Given the description of an element on the screen output the (x, y) to click on. 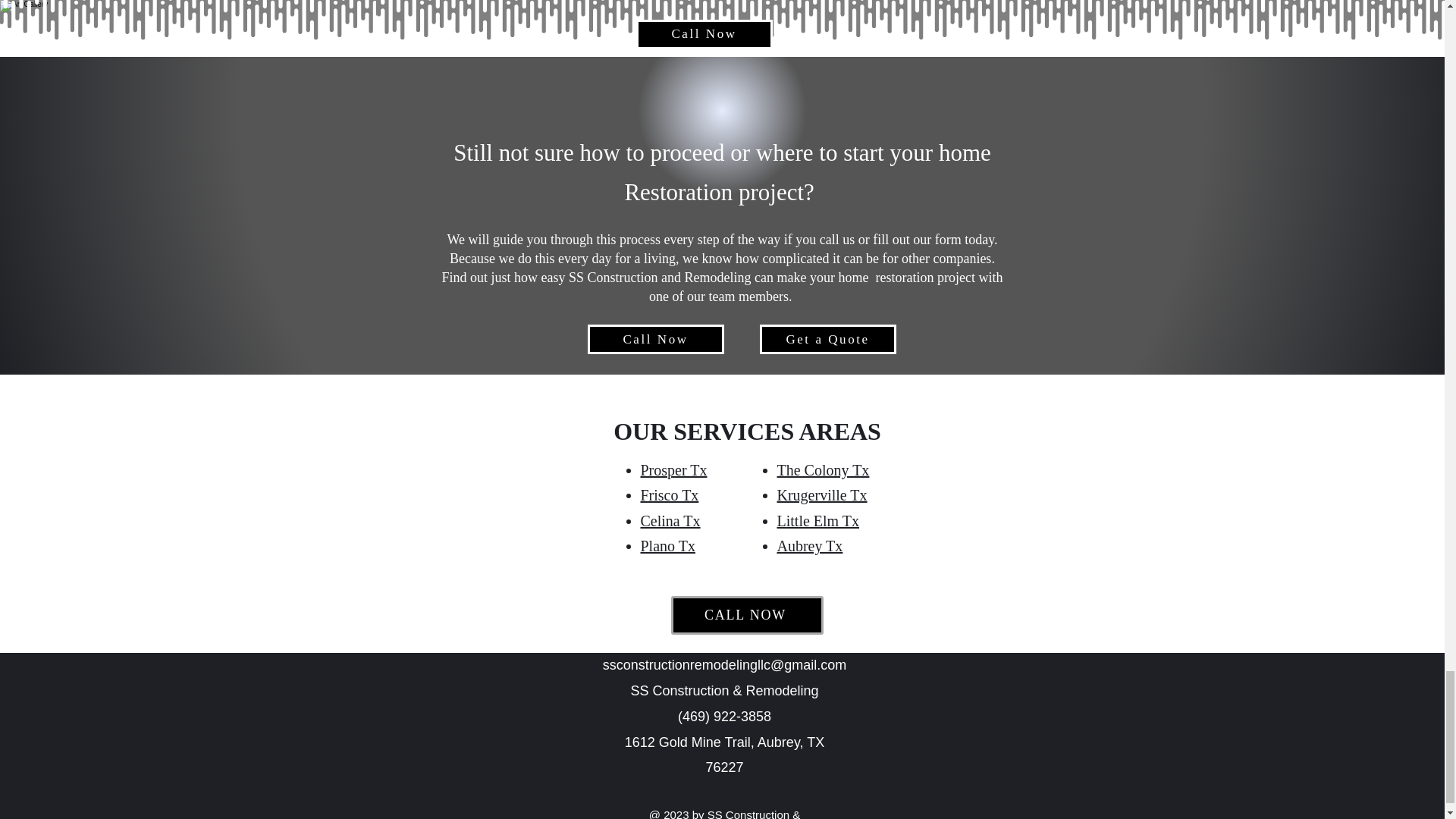
Call Now (654, 338)
Frisco Tx (669, 494)
Celina Tx (670, 520)
CALL NOW (745, 615)
Plano Tx (667, 545)
Call Now (702, 34)
Get a Quote (828, 338)
Aubrey Tx (809, 545)
Krugerville Tx (821, 494)
Prosper Tx (673, 469)
The Colony Tx (822, 469)
Little Elm Tx (817, 520)
